Given the description of an element on the screen output the (x, y) to click on. 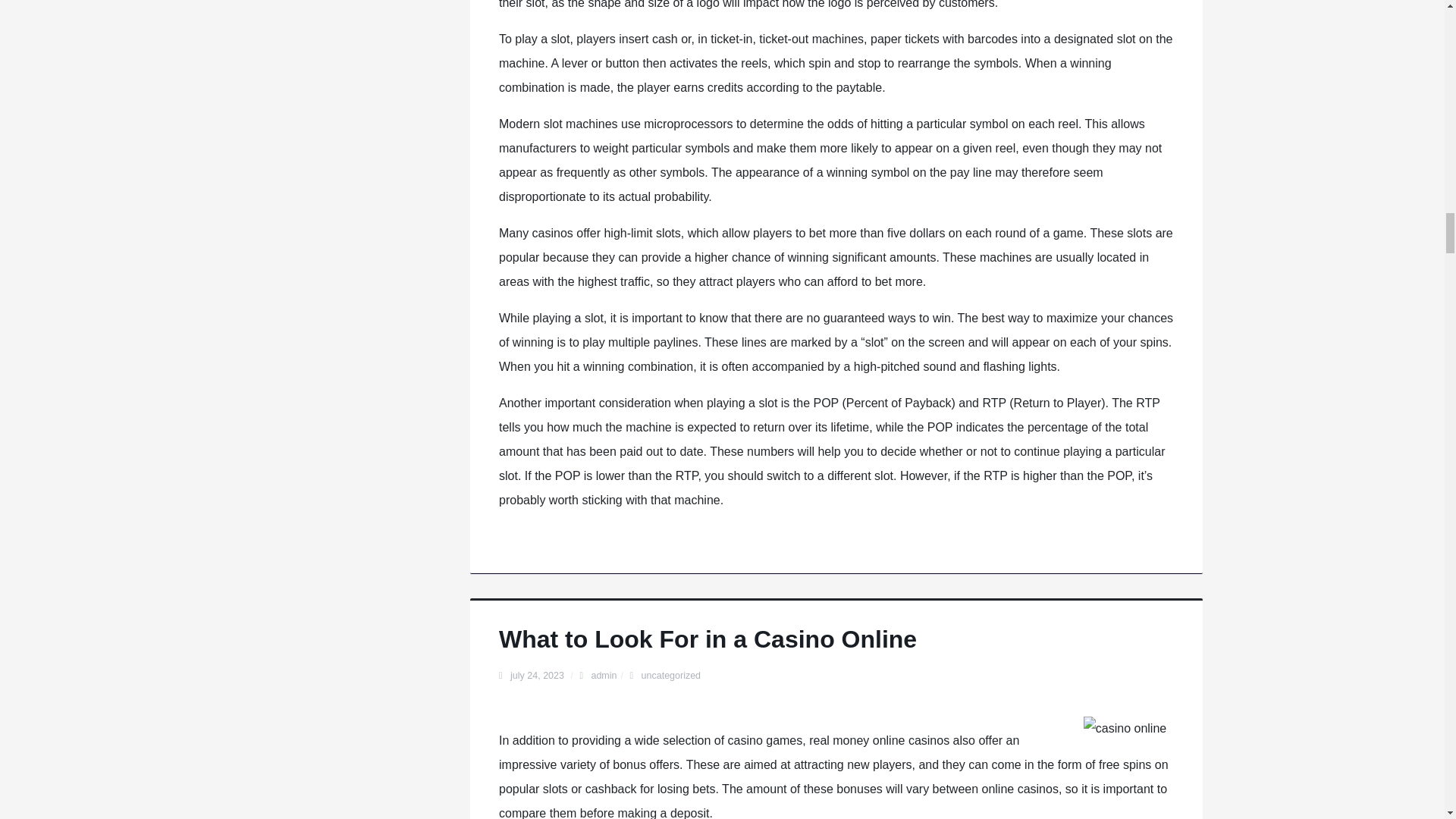
uncategorized (671, 675)
What to Look For in a Casino Online (708, 638)
admin (603, 675)
july 24, 2023 (538, 675)
